Given the description of an element on the screen output the (x, y) to click on. 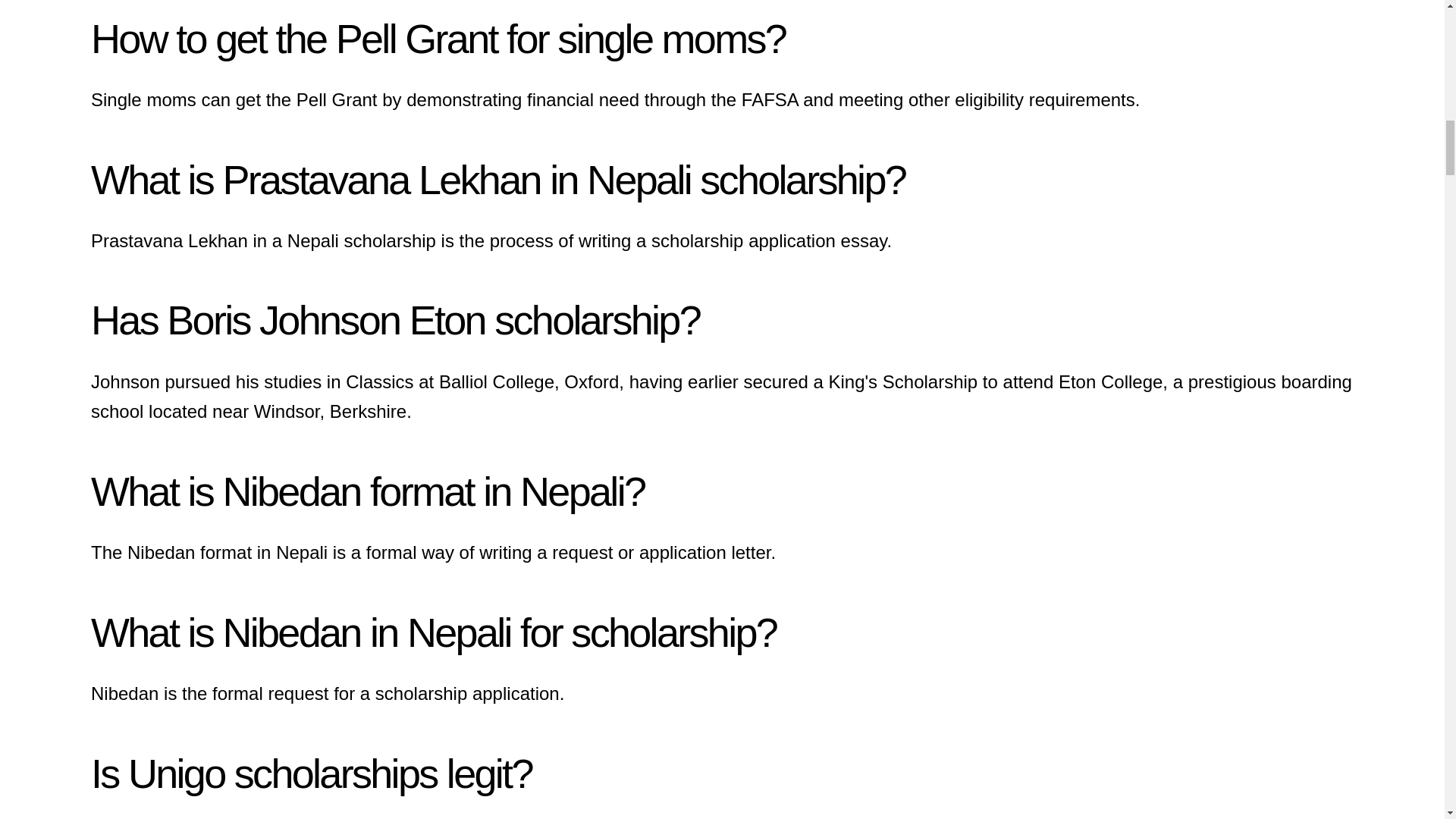
Has Boris Johnson Eton scholarship? (395, 320)
Is Unigo scholarships legit? (311, 773)
What is Nibedan in Nepali for scholarship? (433, 632)
How to get the Pell Grant for single moms? (438, 38)
What is Prastavana Lekhan in Nepali scholarship? (497, 179)
What is Nibedan format in Nepali? (367, 491)
